Given the description of an element on the screen output the (x, y) to click on. 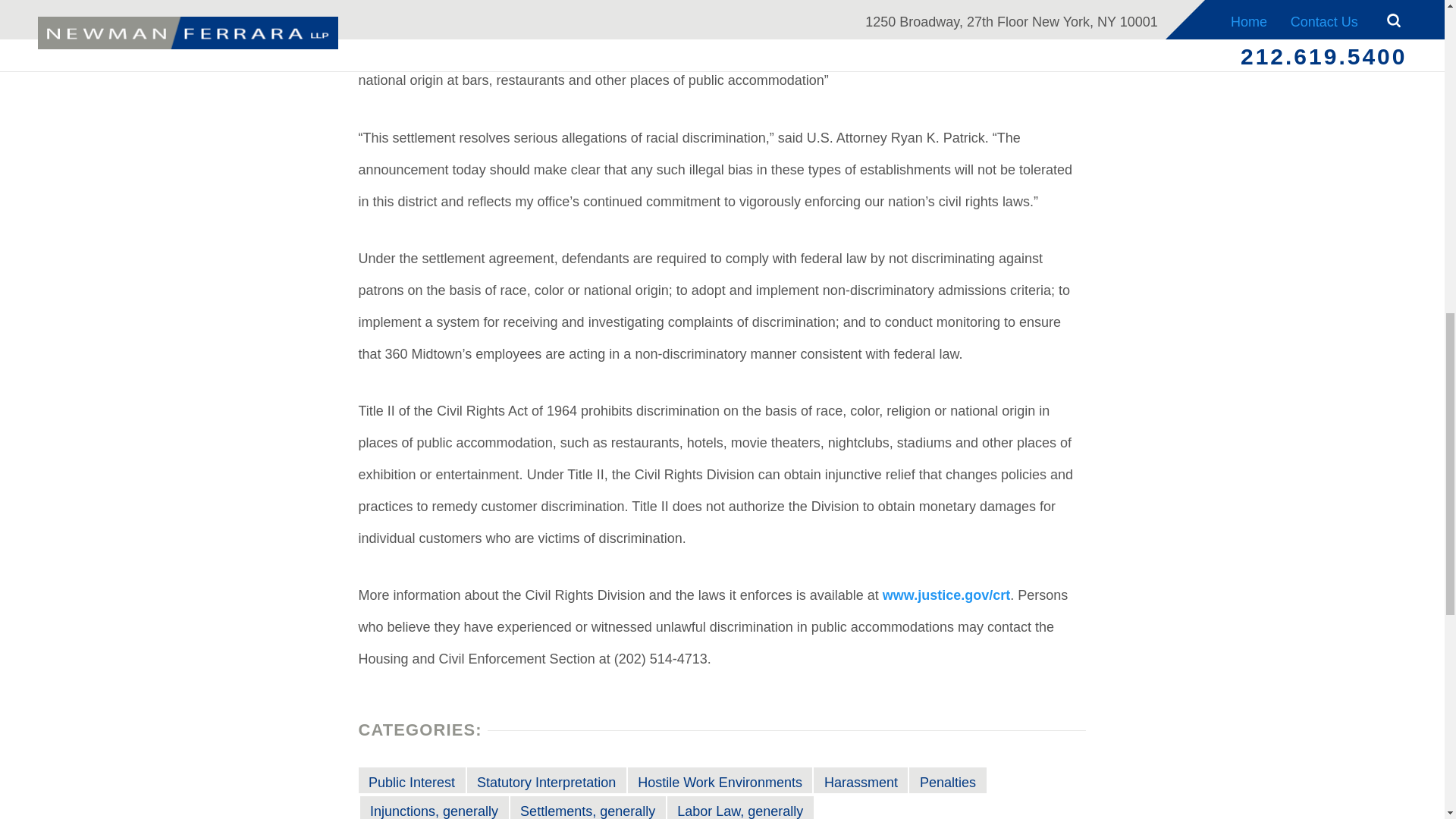
Penalties (946, 779)
Settlements, generally (588, 807)
Public Interest (411, 779)
Statutory Interpretation (546, 779)
Harassment (860, 779)
Labor Law, generally (739, 807)
Hostile Work Environments (719, 779)
Injunctions, generally (433, 807)
